Given the description of an element on the screen output the (x, y) to click on. 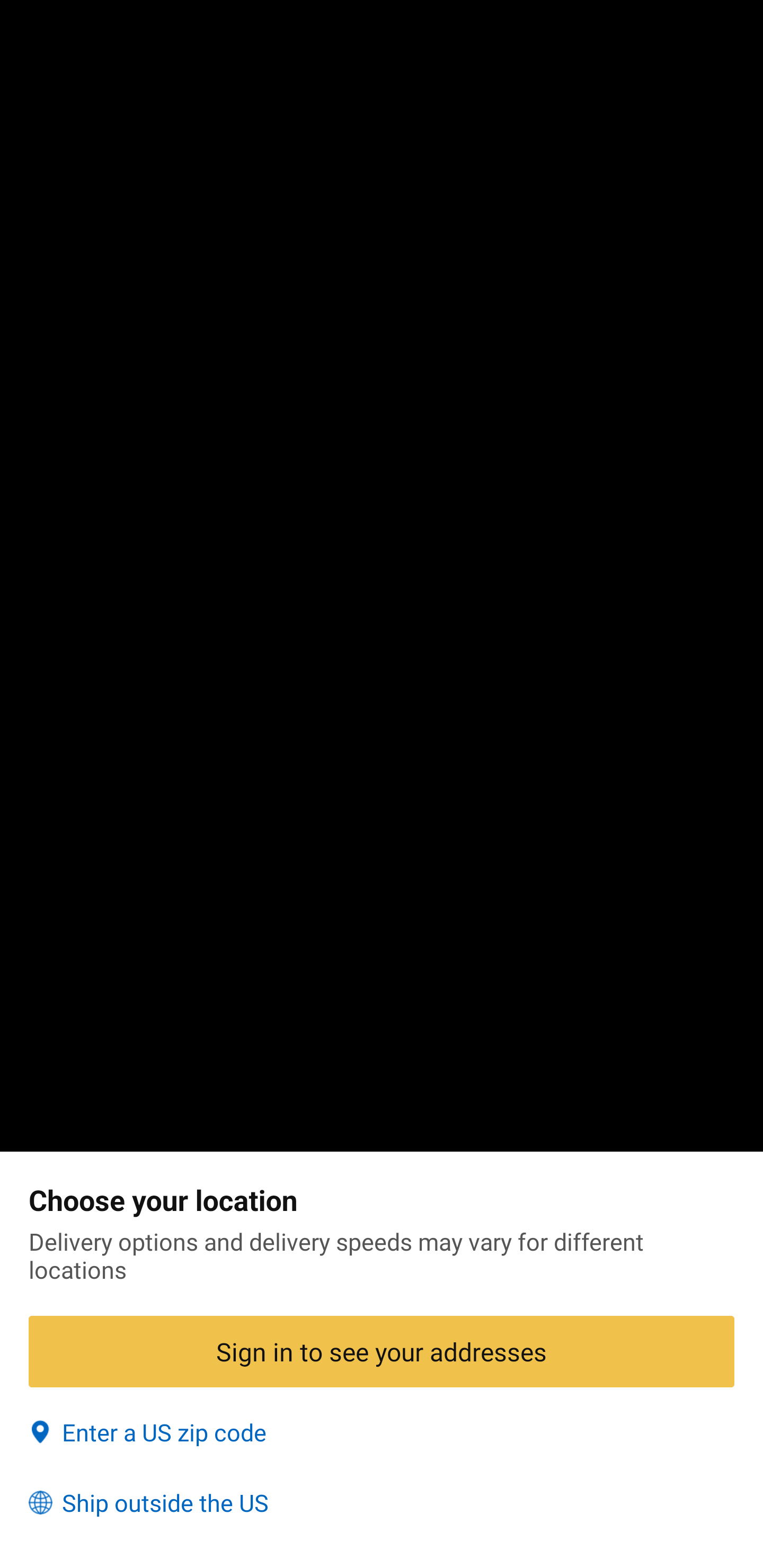
Sign in to see your addresses (381, 1351)
Enter a US zip code (381, 1432)
Ship outside the US (381, 1502)
